Given the description of an element on the screen output the (x, y) to click on. 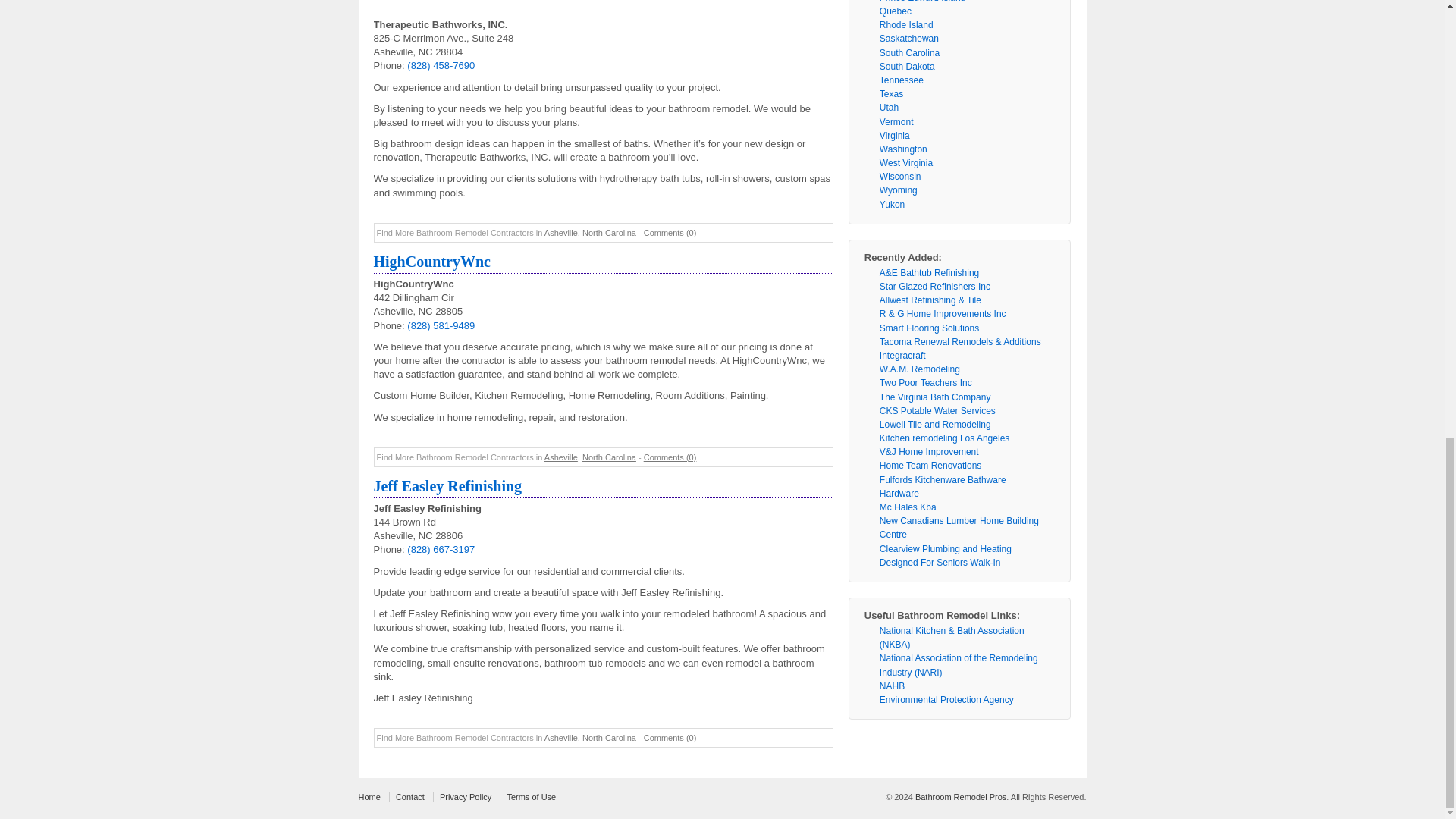
Jeff Easley Refinishing - Bathroom Remodel (446, 485)
North Carolina (609, 232)
HighCountryWnc (430, 261)
North Carolina (609, 737)
Asheville (561, 232)
Asheville (561, 737)
Jeff Easley Refinishing (446, 485)
HighCountryWnc - Bathroom Remodel (430, 261)
Asheville (561, 456)
North Carolina (609, 456)
Advertisement (602, 9)
